Given the description of an element on the screen output the (x, y) to click on. 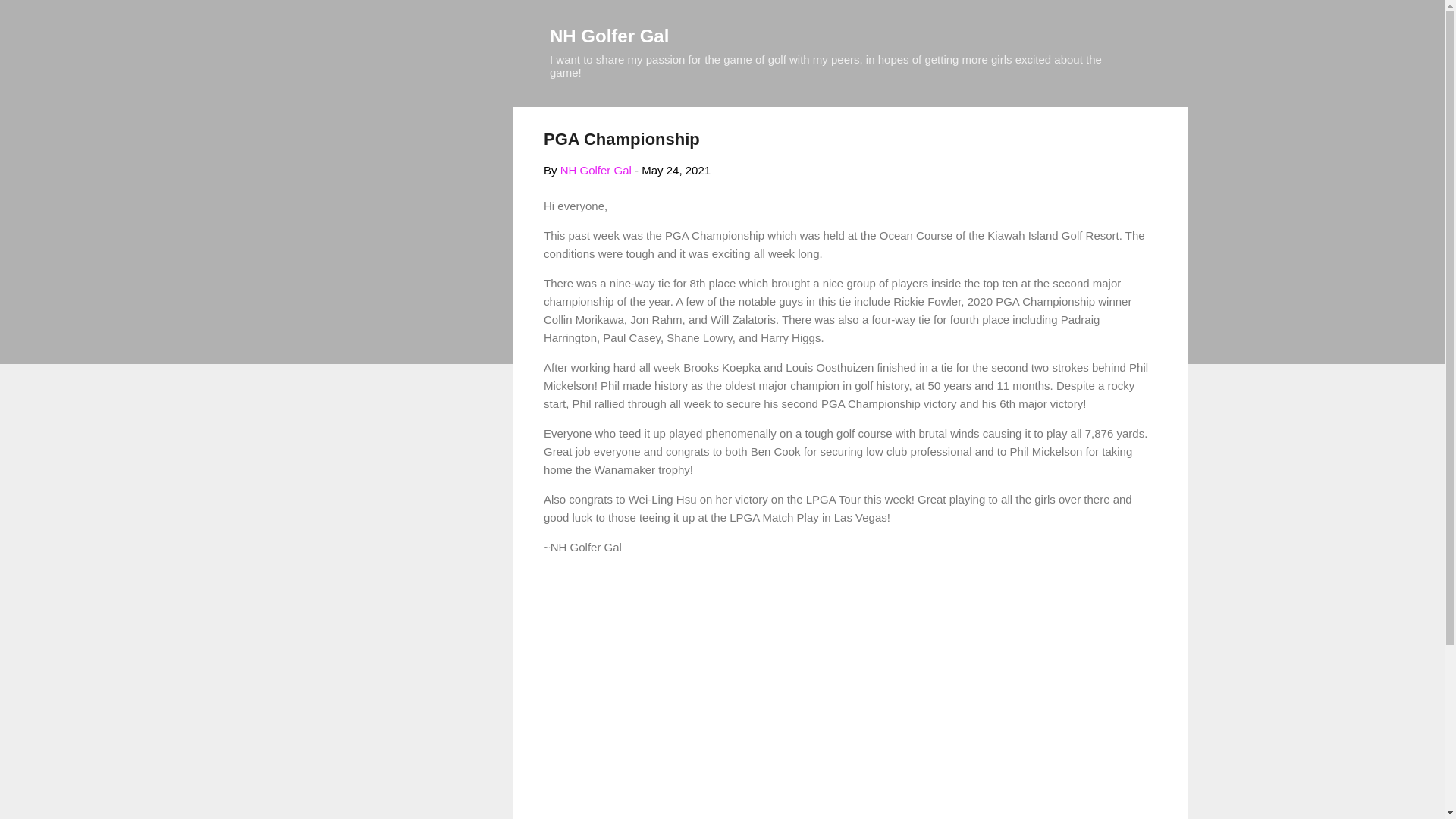
NH Golfer Gal (595, 169)
permanent link (676, 169)
Search (29, 18)
NH Golfer Gal (609, 35)
May 24, 2021 (676, 169)
author profile (595, 169)
